Given the description of an element on the screen output the (x, y) to click on. 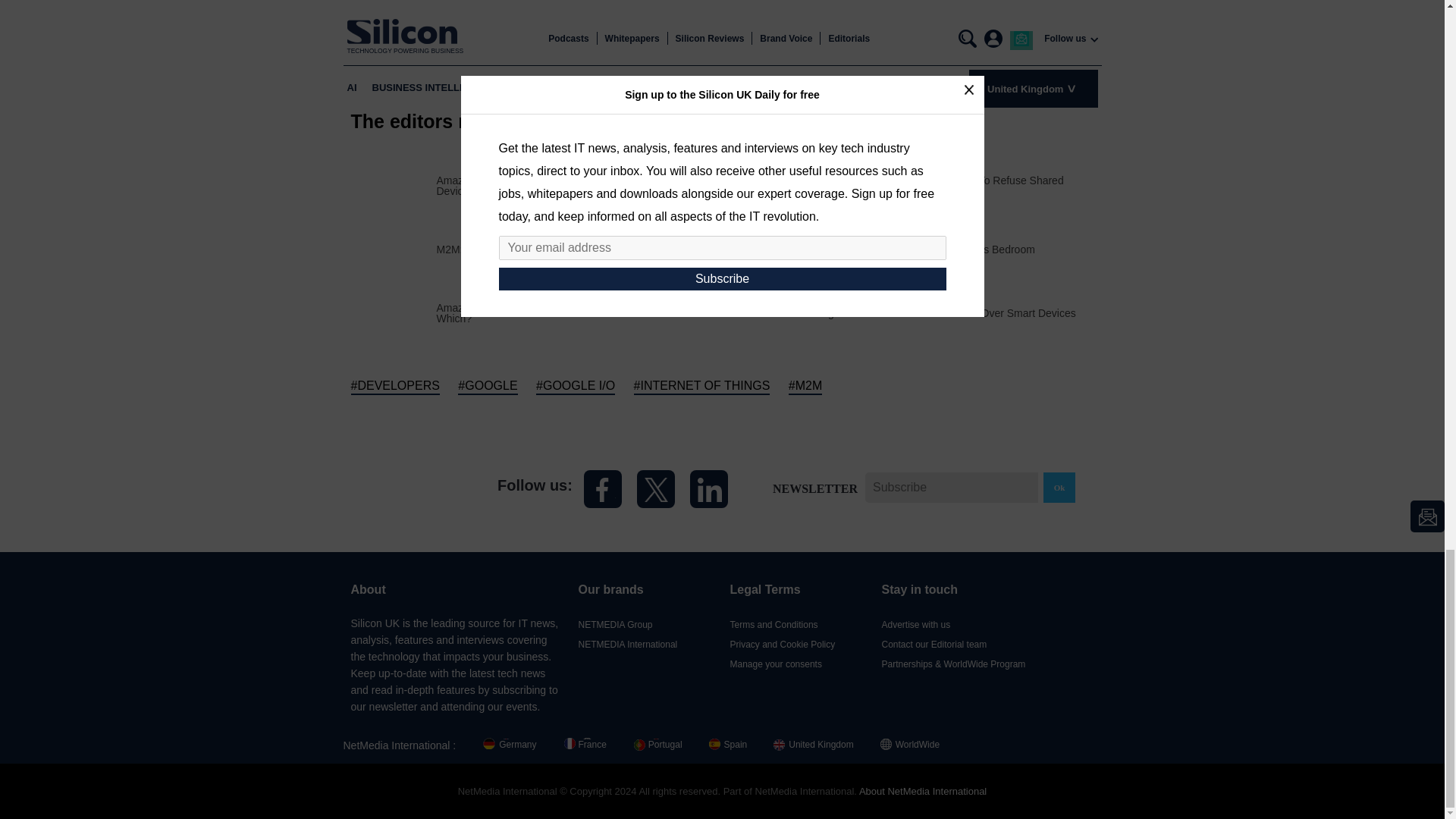
Amazon Promoted Webcams Vulnerable To Hackers, Warns Which? (579, 312)
M2M: The Future of Cybersecurity (516, 249)
Google Faces Italian Antitrust Probe Over Smart Devices (941, 312)
Amazon Opens Sidewalk Mesh Network To Third-Party Devices (579, 184)
